Given the description of an element on the screen output the (x, y) to click on. 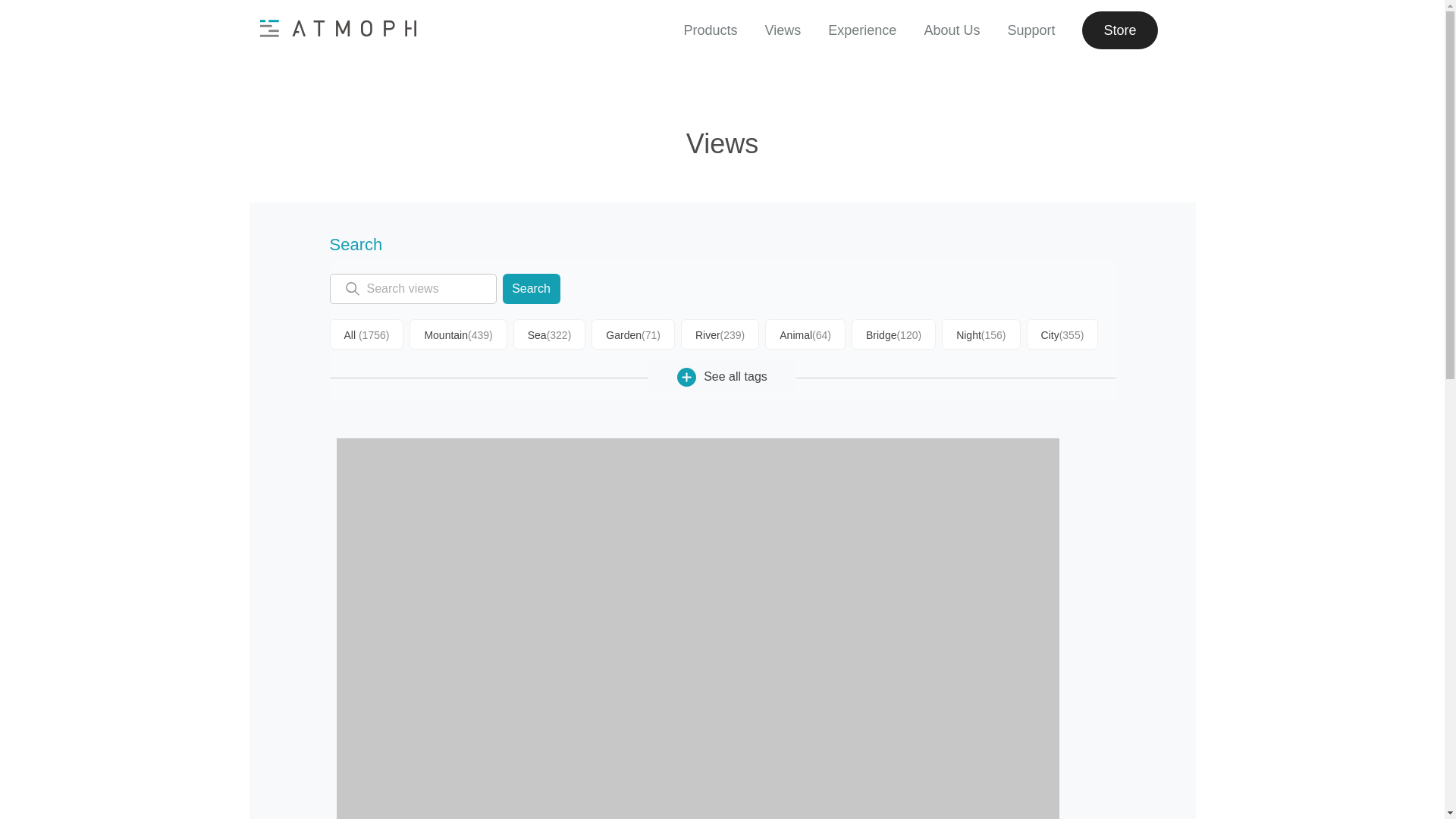
Store (1119, 30)
Products (711, 29)
About Us (951, 29)
Experience (862, 29)
Support (1030, 29)
Views (783, 29)
